Given the description of an element on the screen output the (x, y) to click on. 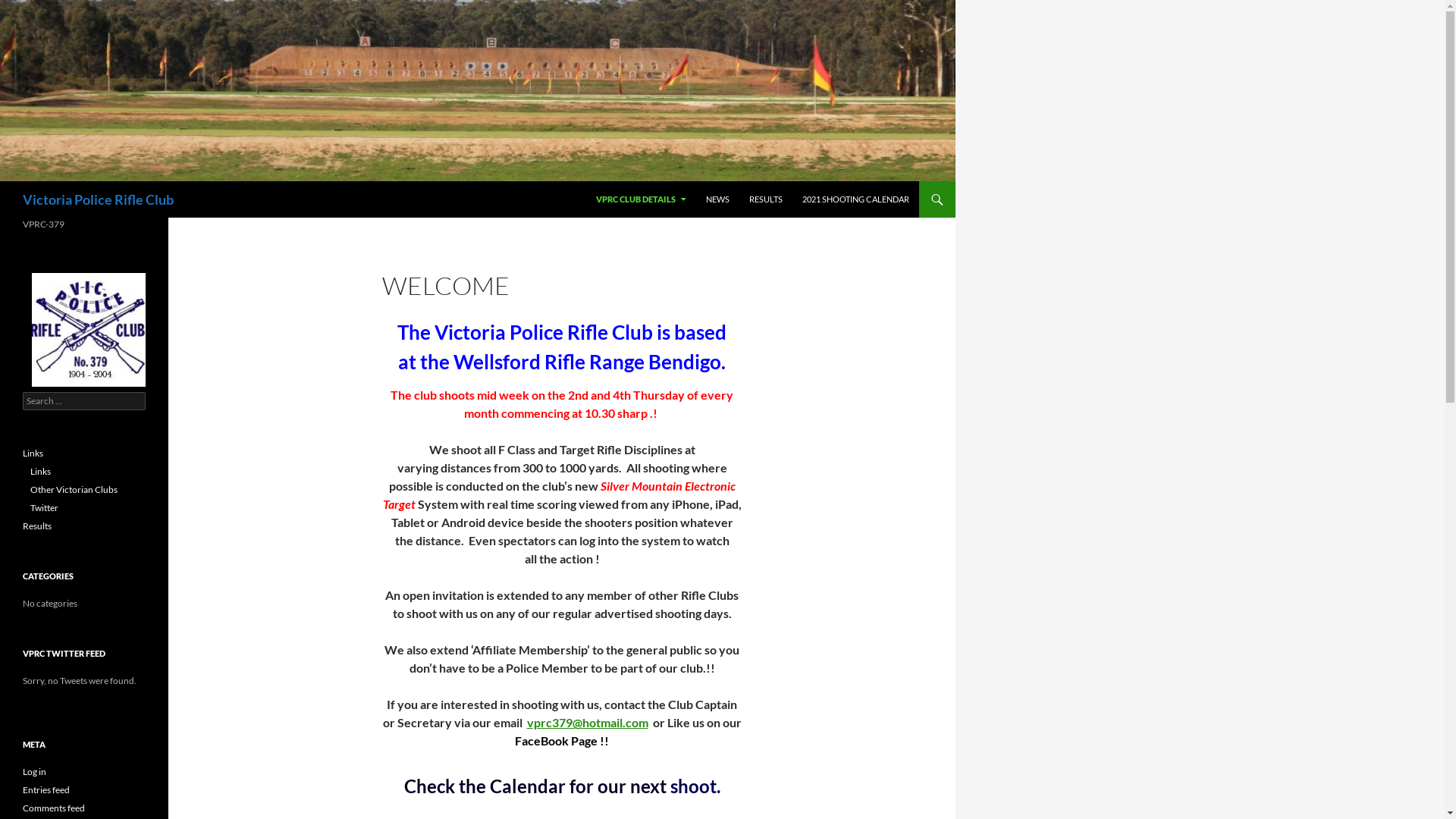
Links Element type: text (32, 452)
Search Element type: text (29, 9)
vprc379@hotmail.com Element type: text (586, 722)
SKIP TO CONTENT Element type: text (595, 180)
Comments feed Element type: text (53, 807)
2021 SHOOTING CALENDAR Element type: text (855, 199)
Log in Element type: text (34, 771)
VPRC CLUB DETAILS Element type: text (640, 199)
Twitter Element type: text (44, 507)
NEWS Element type: text (717, 199)
Links Element type: text (40, 470)
RESULTS Element type: text (765, 199)
Other Victorian Clubs Element type: text (73, 489)
Search Element type: text (3, 180)
Entries feed Element type: text (45, 789)
Results Element type: text (36, 525)
Victoria Police Rifle Club Element type: text (97, 199)
